Given the description of an element on the screen output the (x, y) to click on. 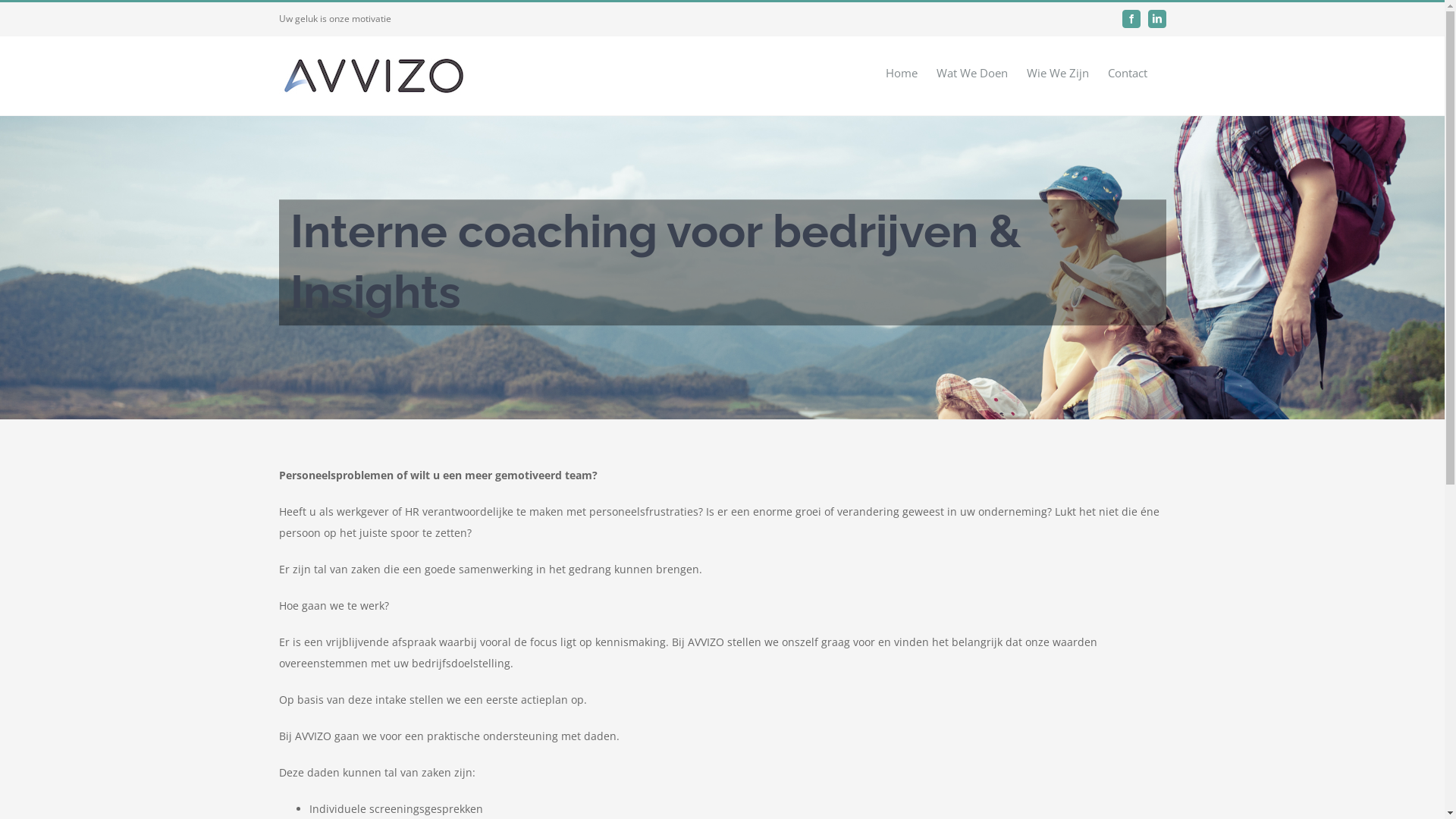
Wat We Doen Element type: text (971, 72)
Facebook Element type: text (1131, 18)
LinkedIn Element type: text (1157, 18)
Contact Element type: text (1126, 72)
Home Element type: text (901, 72)
Wie We Zijn Element type: text (1057, 72)
